Given the description of an element on the screen output the (x, y) to click on. 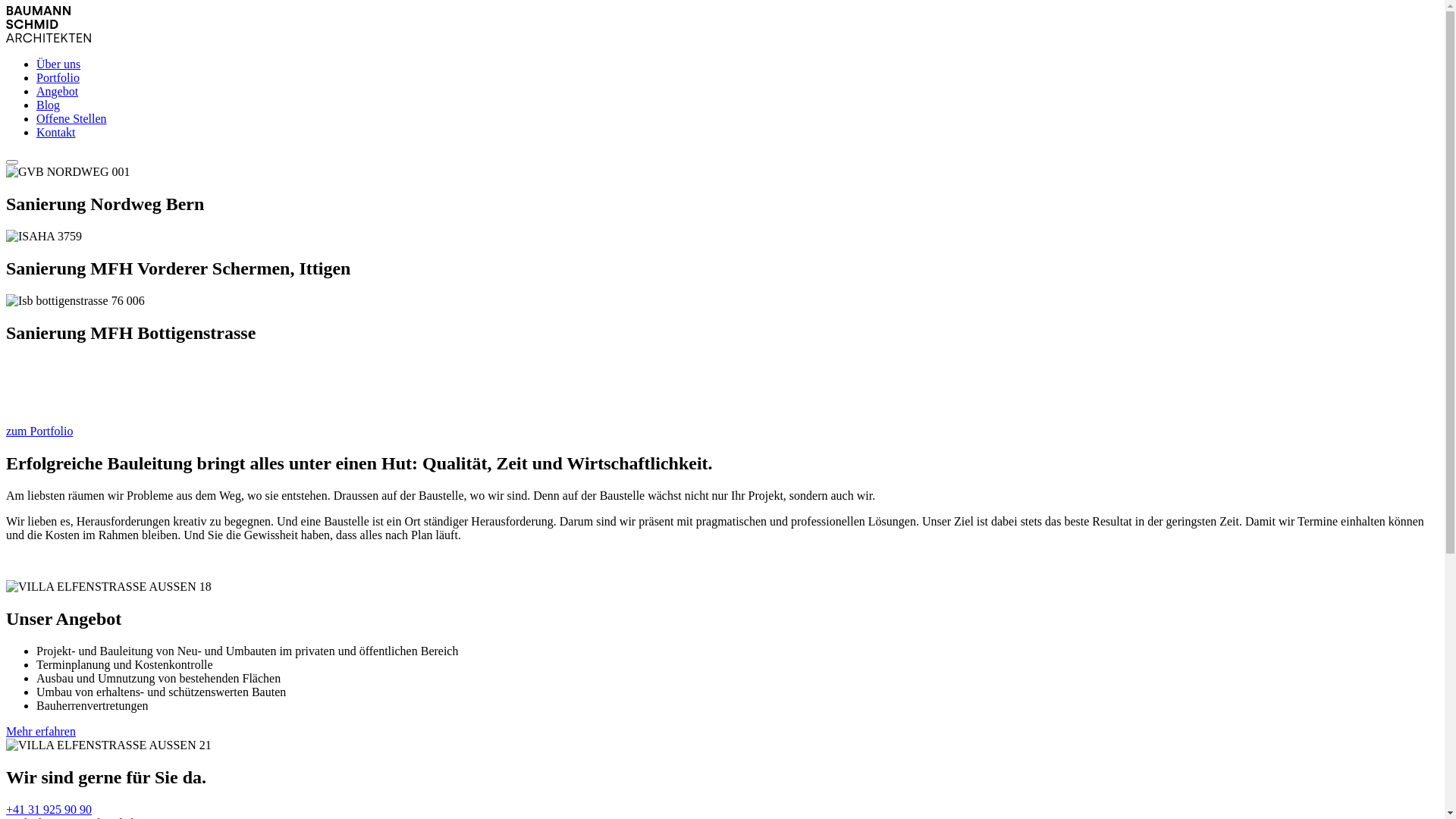
Kontakt Element type: text (55, 131)
Portfolio Element type: text (57, 77)
Angebot Element type: text (57, 90)
Blog Element type: text (47, 104)
zum Portfolio Element type: text (39, 430)
ISAHA 3759 Element type: hover (43, 236)
Isb bottigenstrasse 76 006 Element type: hover (75, 300)
Mehr erfahren Element type: text (40, 730)
Offene Stellen Element type: text (71, 118)
Baumann Schmid Architekten Element type: hover (48, 37)
GVB NORDWEG 001 Element type: hover (68, 171)
+41 31 925 90 90 Element type: text (48, 809)
